Given the description of an element on the screen output the (x, y) to click on. 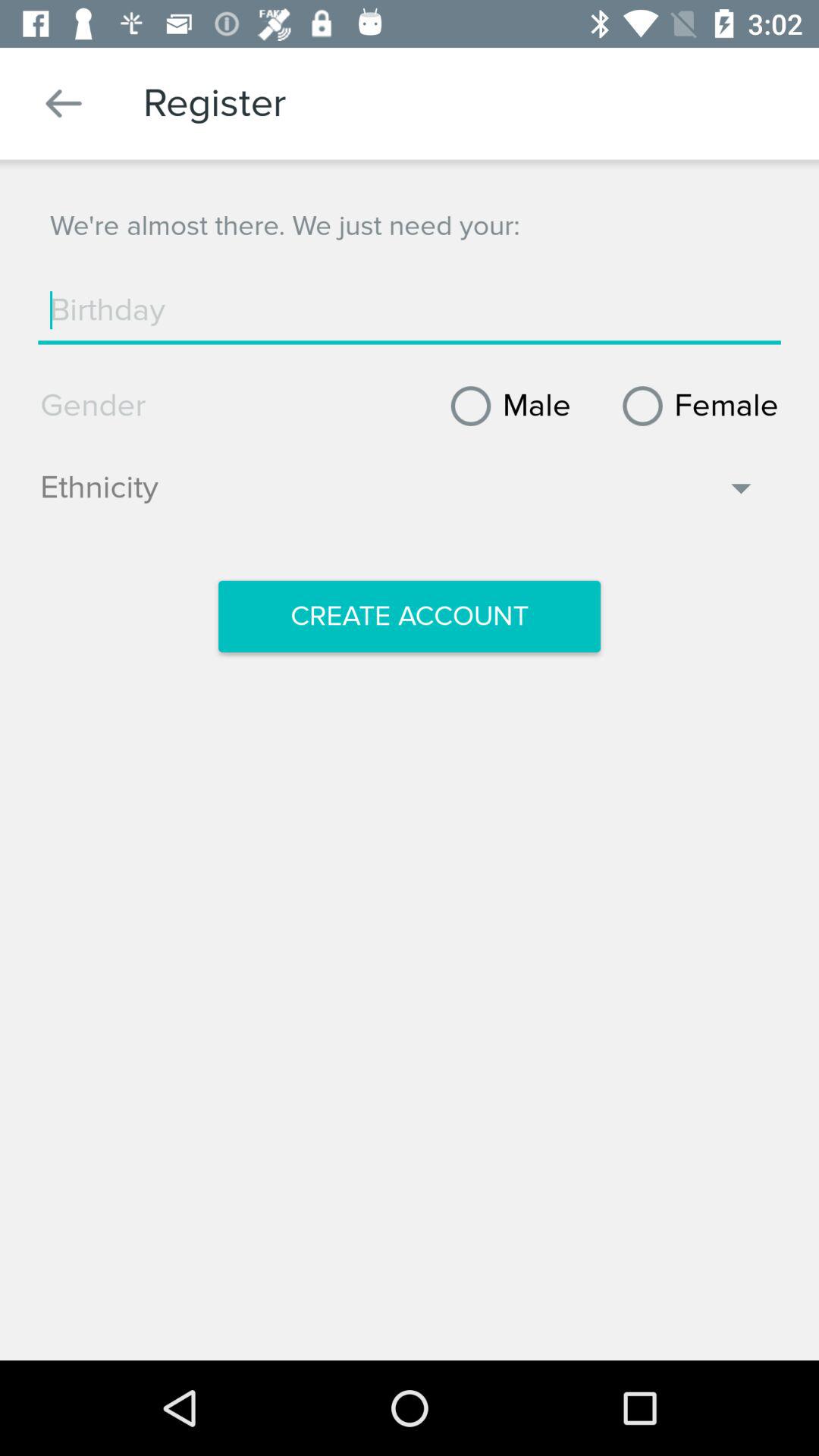
choose the item at the top right corner (694, 405)
